Given the description of an element on the screen output the (x, y) to click on. 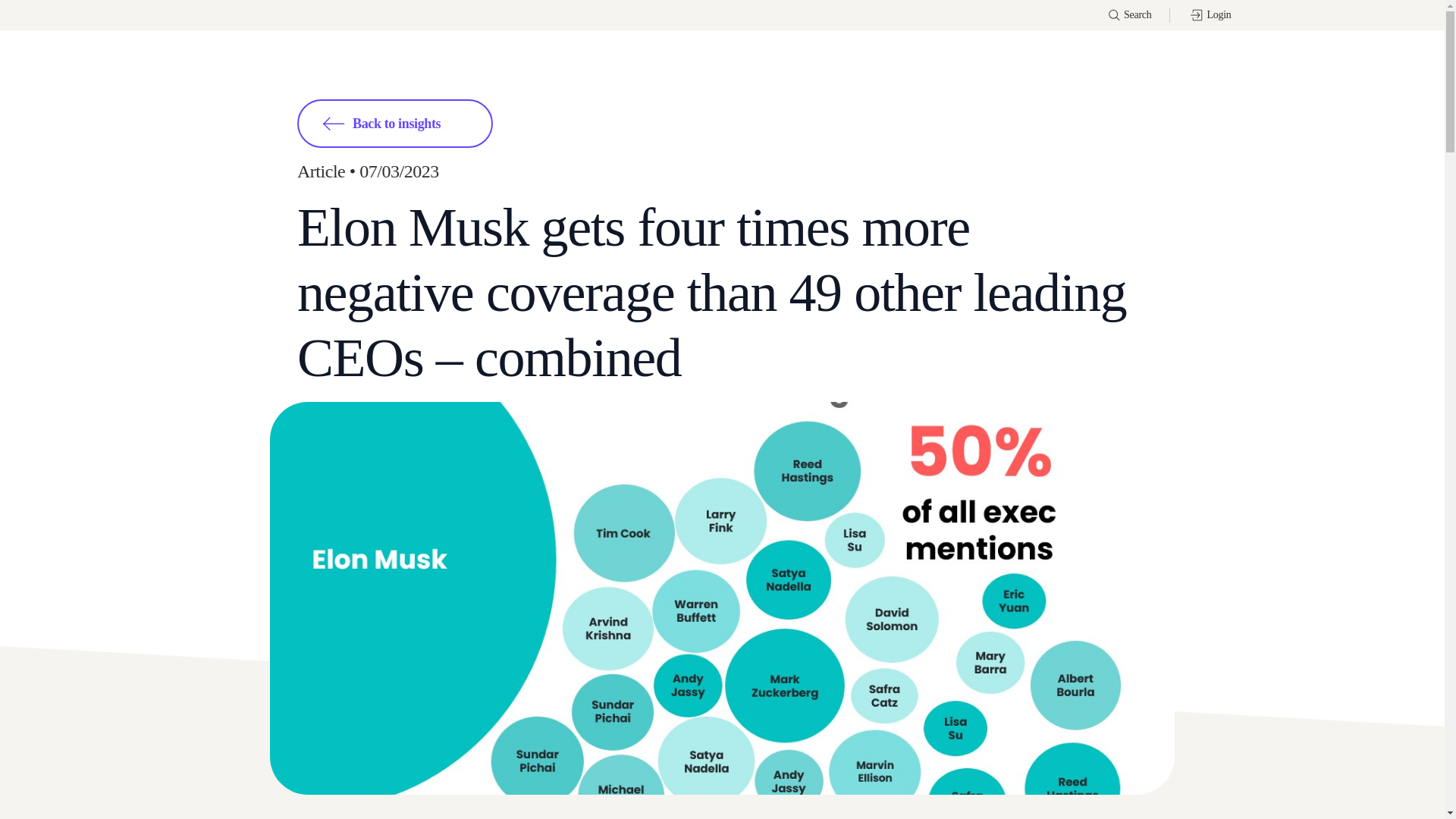
Login (1210, 14)
Search (1129, 14)
